Given the description of an element on the screen output the (x, y) to click on. 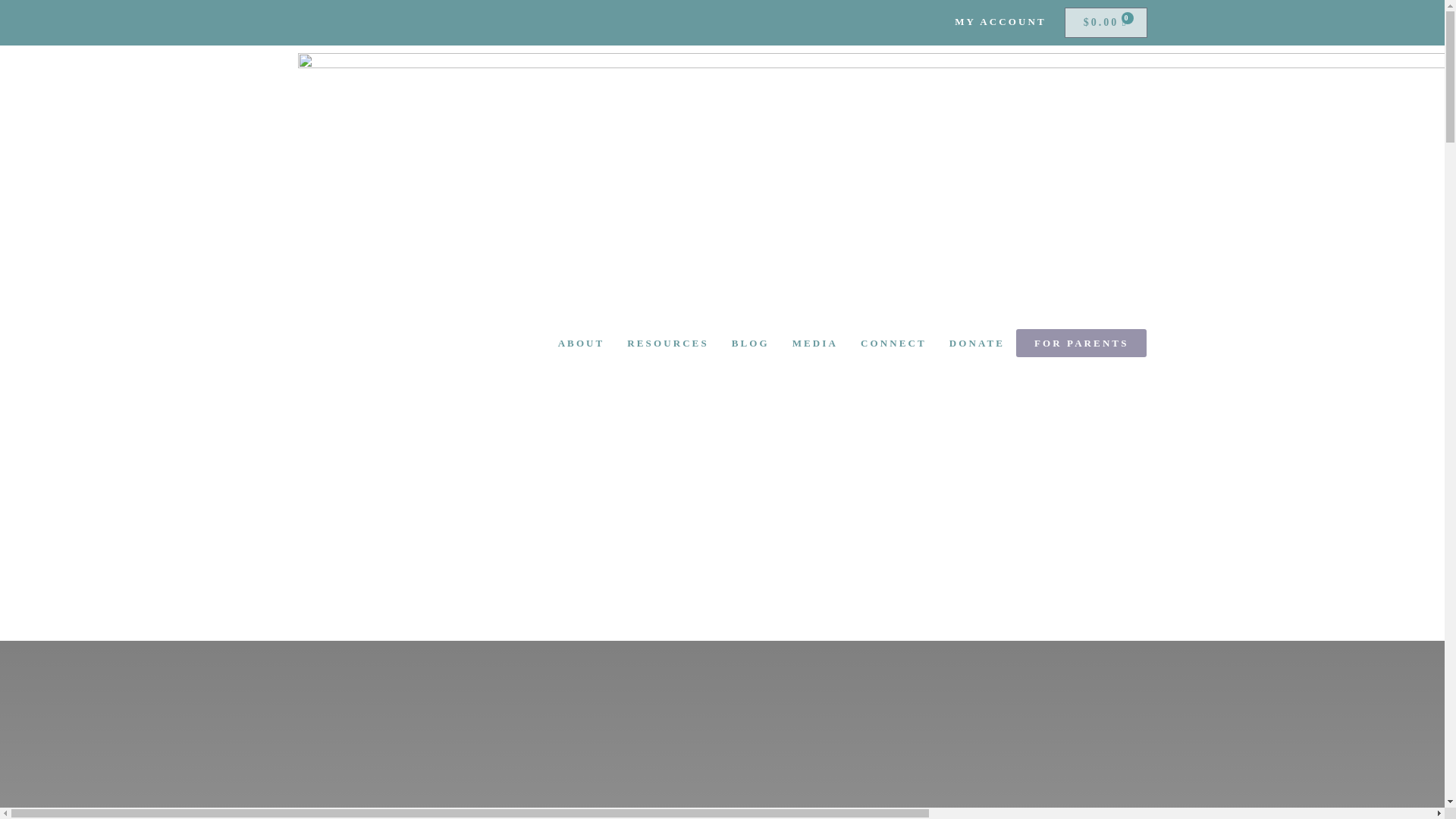
ABOUT (581, 343)
RESOURCES (667, 343)
BLOG (750, 343)
MY ACCOUNT (1000, 21)
FOR PARENTS (1081, 343)
MEDIA (814, 343)
CONNECT (892, 343)
DONATE (976, 343)
